Given the description of an element on the screen output the (x, y) to click on. 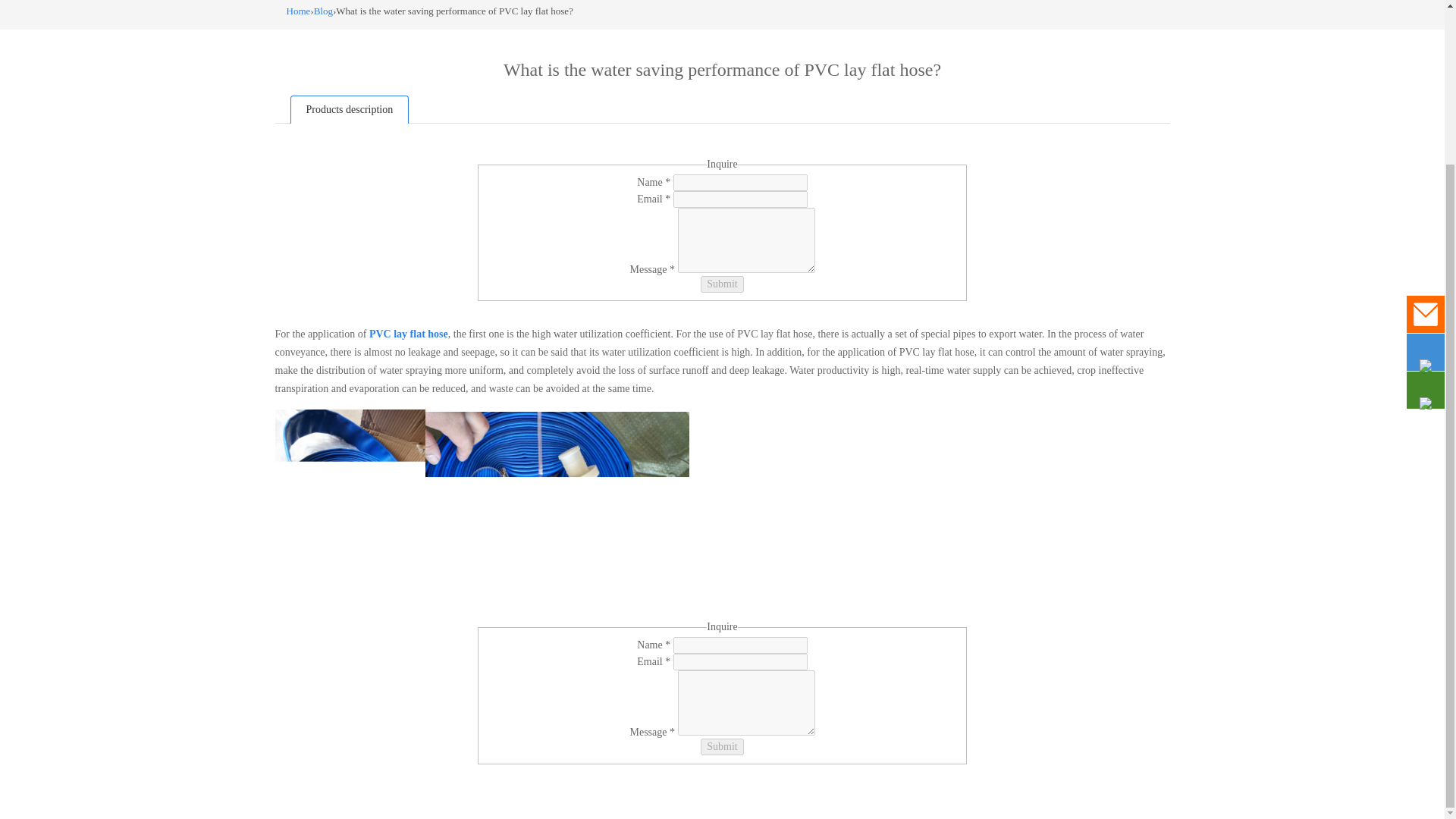
Back to Home page (298, 10)
